Given the description of an element on the screen output the (x, y) to click on. 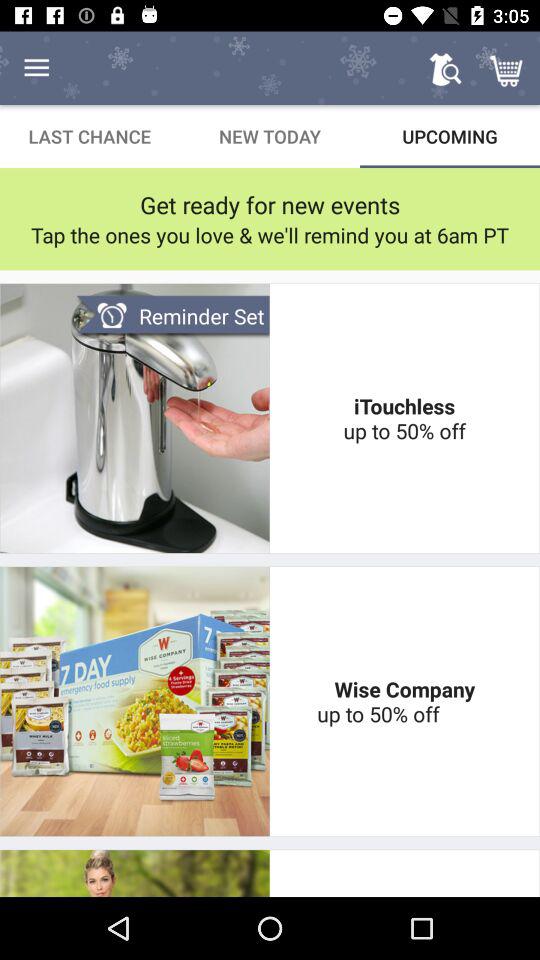
launch the wise company up item (404, 701)
